Given the description of an element on the screen output the (x, y) to click on. 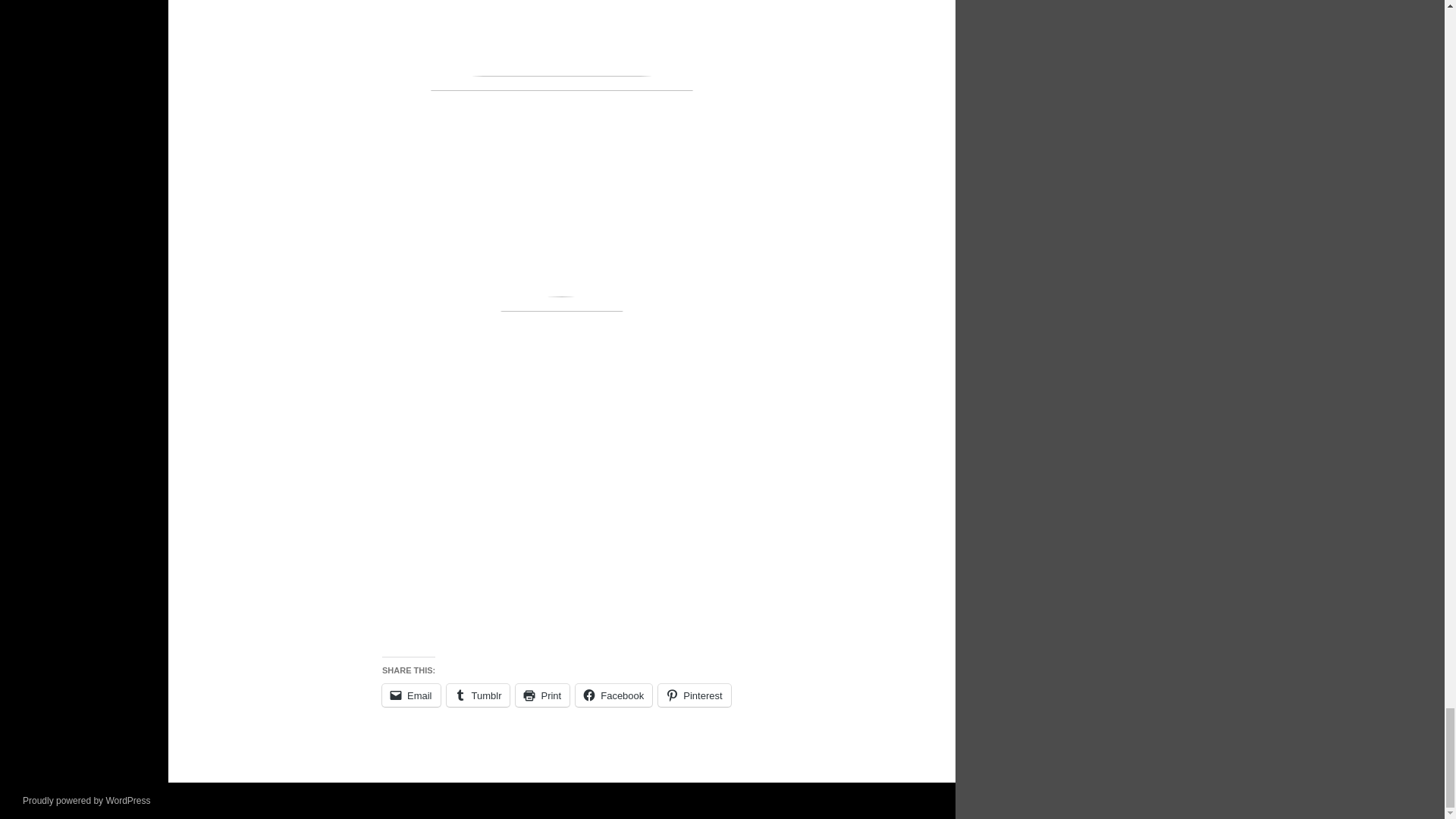
Tumblr (478, 694)
Email (411, 694)
Facebook (613, 694)
Click to share on Pinterest (694, 694)
Click to share on Tumblr (478, 694)
Click to share on Facebook (613, 694)
Print (542, 694)
Pinterest (694, 694)
Click to email a link to a friend (411, 694)
Click to print (542, 694)
